Given the description of an element on the screen output the (x, y) to click on. 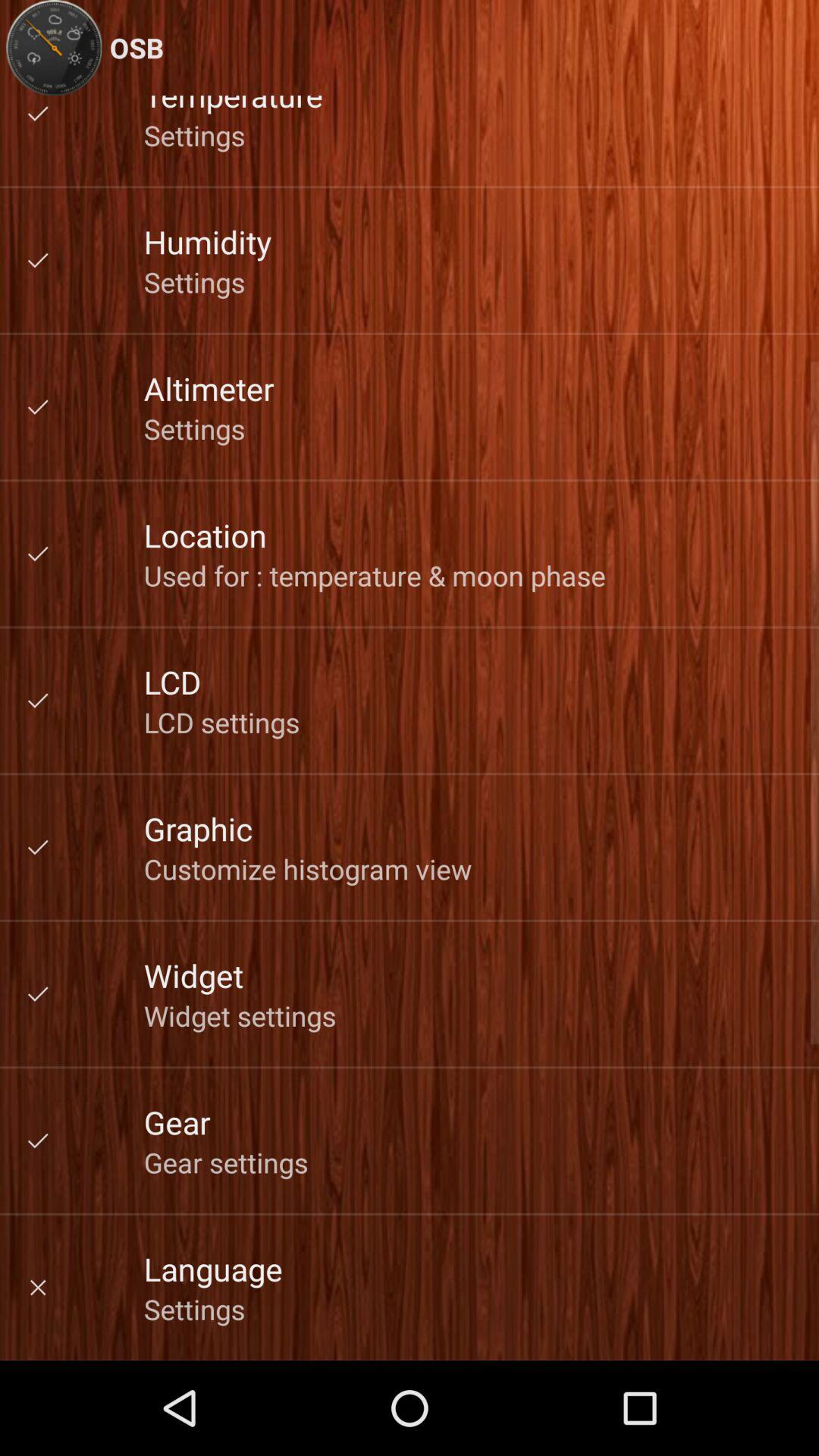
scroll to widget settings icon (239, 1015)
